Given the description of an element on the screen output the (x, y) to click on. 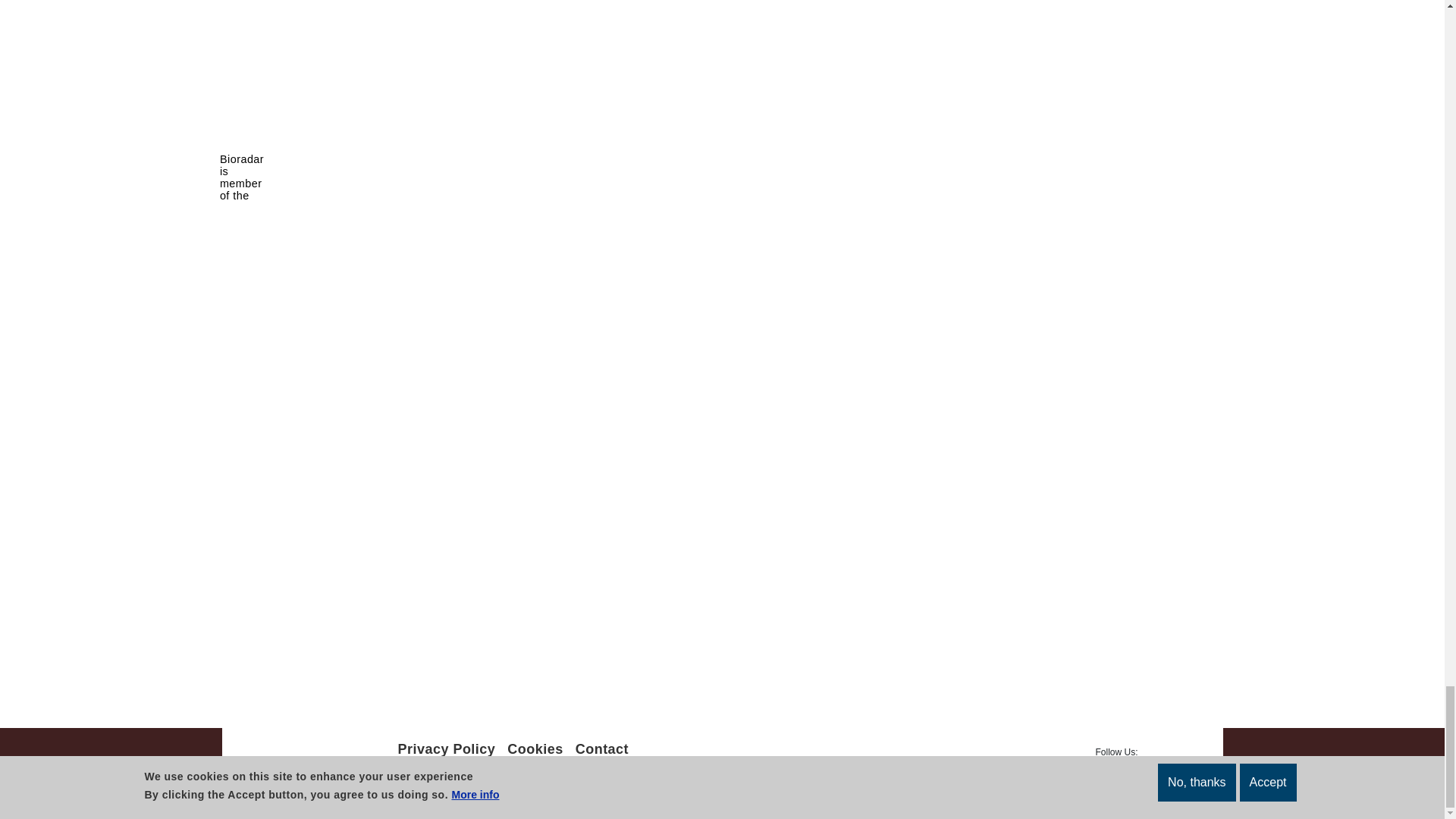
Contact (601, 749)
Cookies (534, 749)
Privacy Policy (446, 749)
Home (304, 739)
